Given the description of an element on the screen output the (x, y) to click on. 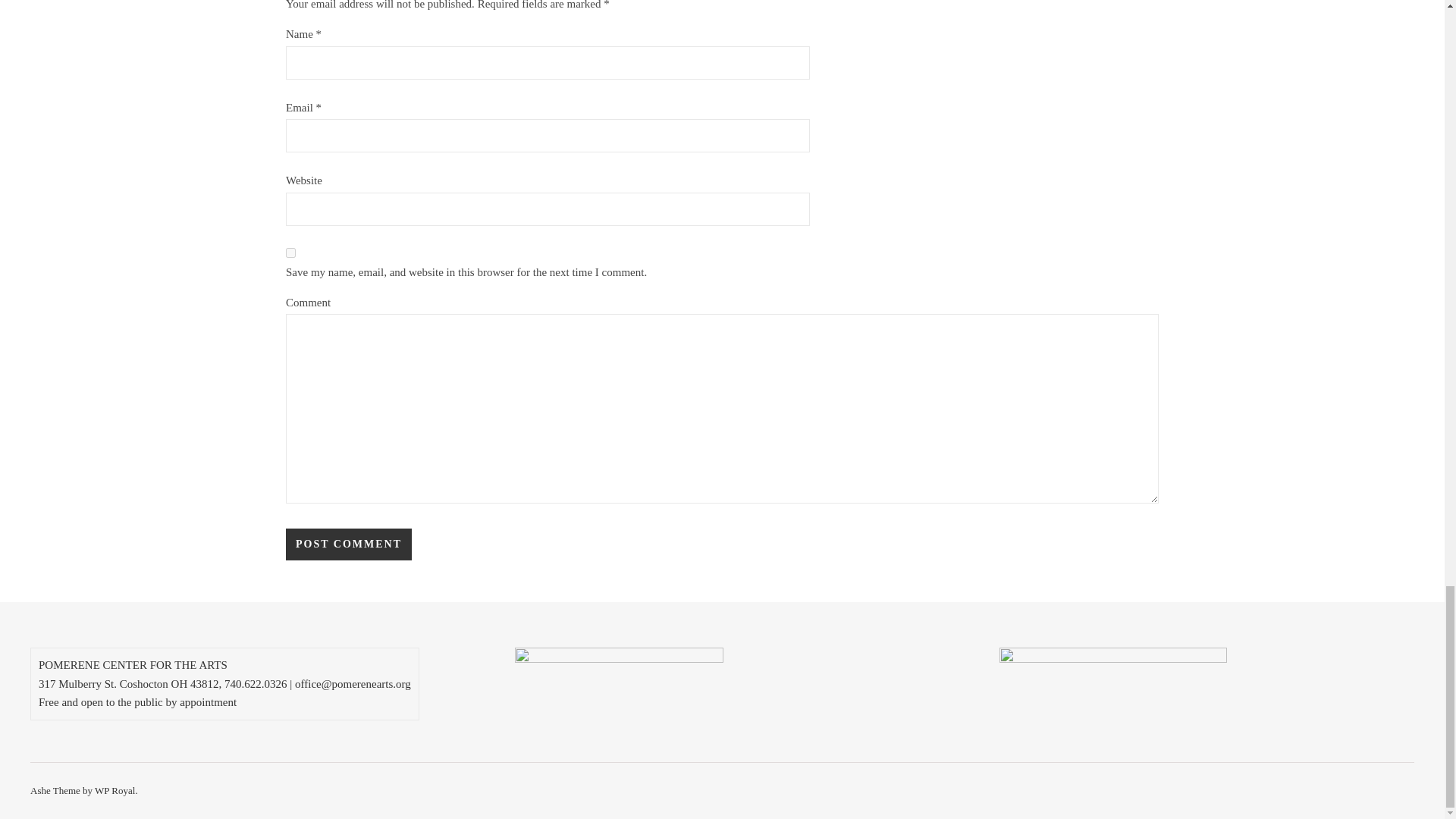
yes (290, 252)
Post Comment (348, 544)
